Given the description of an element on the screen output the (x, y) to click on. 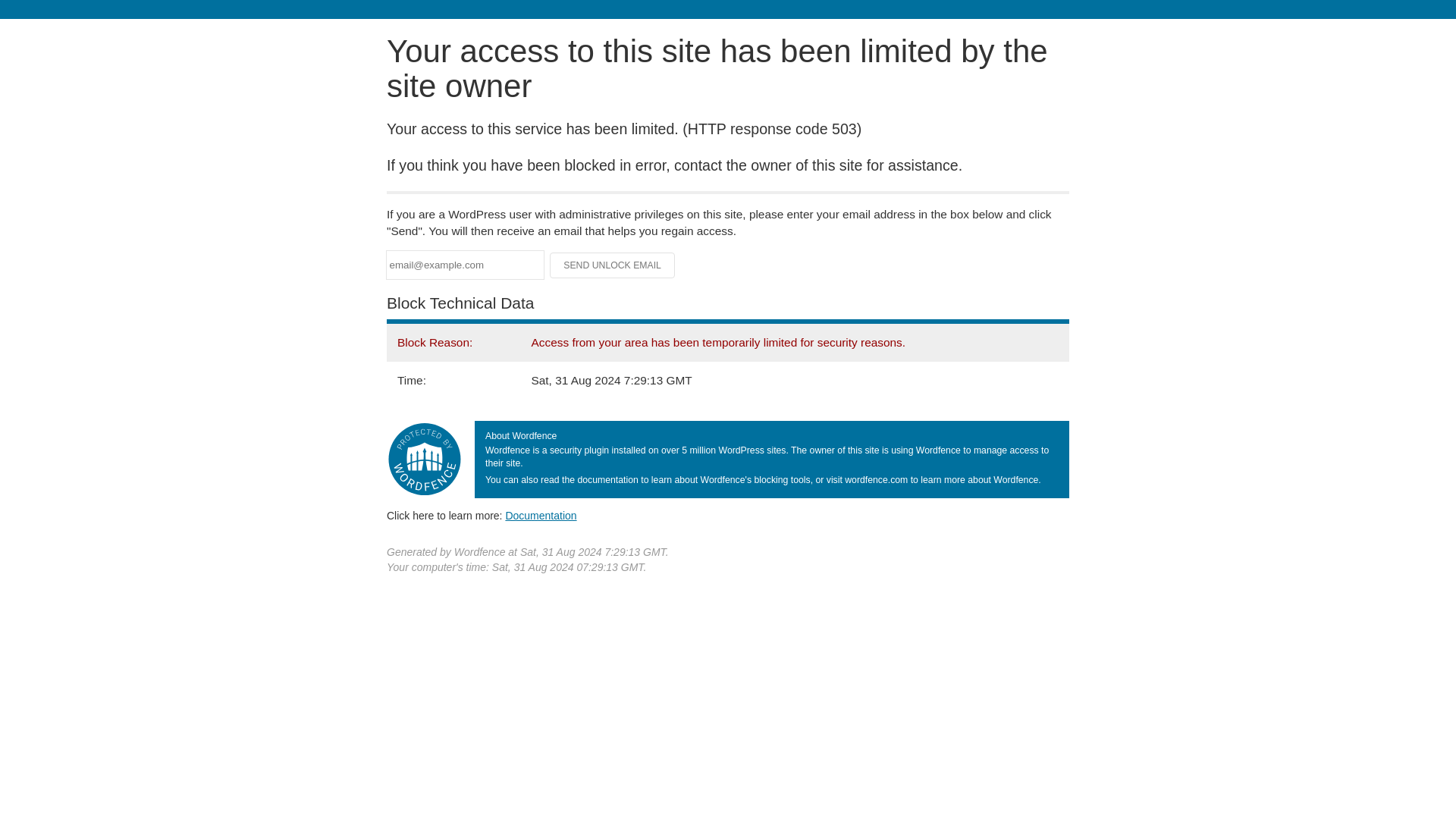
Documentation (540, 515)
Send Unlock Email (612, 265)
Send Unlock Email (612, 265)
